Given the description of an element on the screen output the (x, y) to click on. 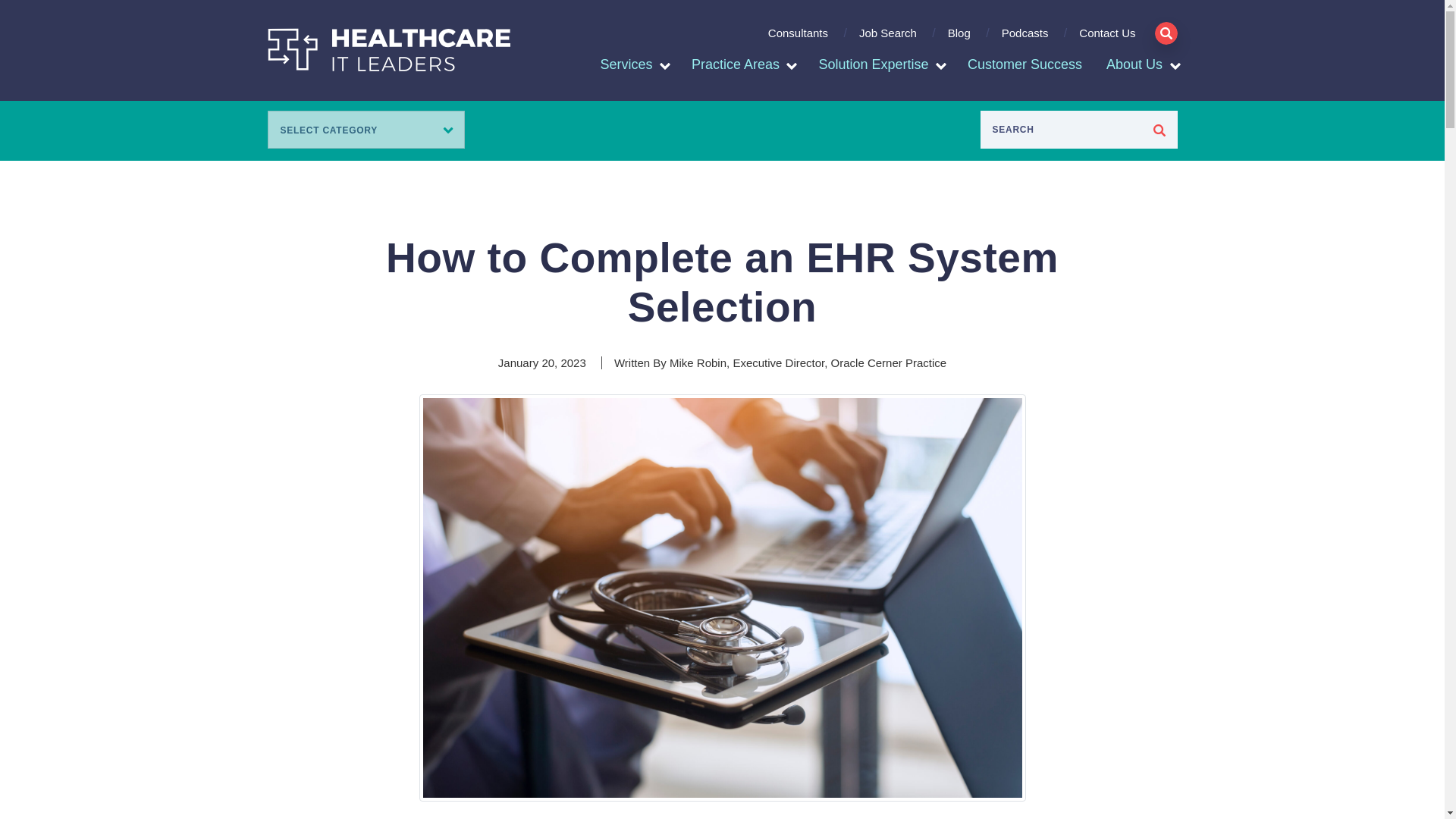
Contact Us (1101, 39)
Healthcare IT Leaders (387, 49)
Solution Expertise (873, 65)
Consultants (797, 39)
Practice Areas (734, 65)
Open Search (1165, 33)
Services (625, 65)
Podcasts (1025, 39)
Job Search (887, 39)
Blog (959, 39)
